Given the description of an element on the screen output the (x, y) to click on. 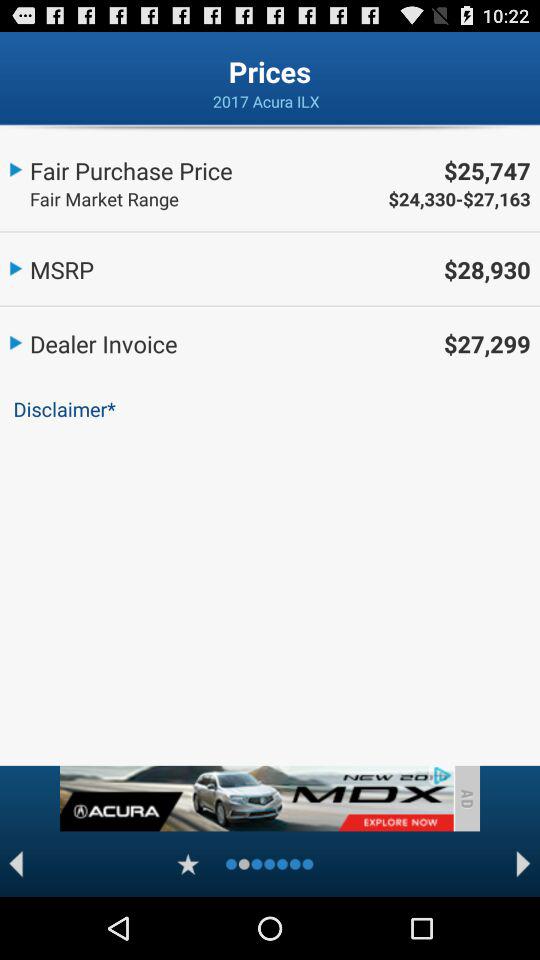
go to next (523, 864)
